Given the description of an element on the screen output the (x, y) to click on. 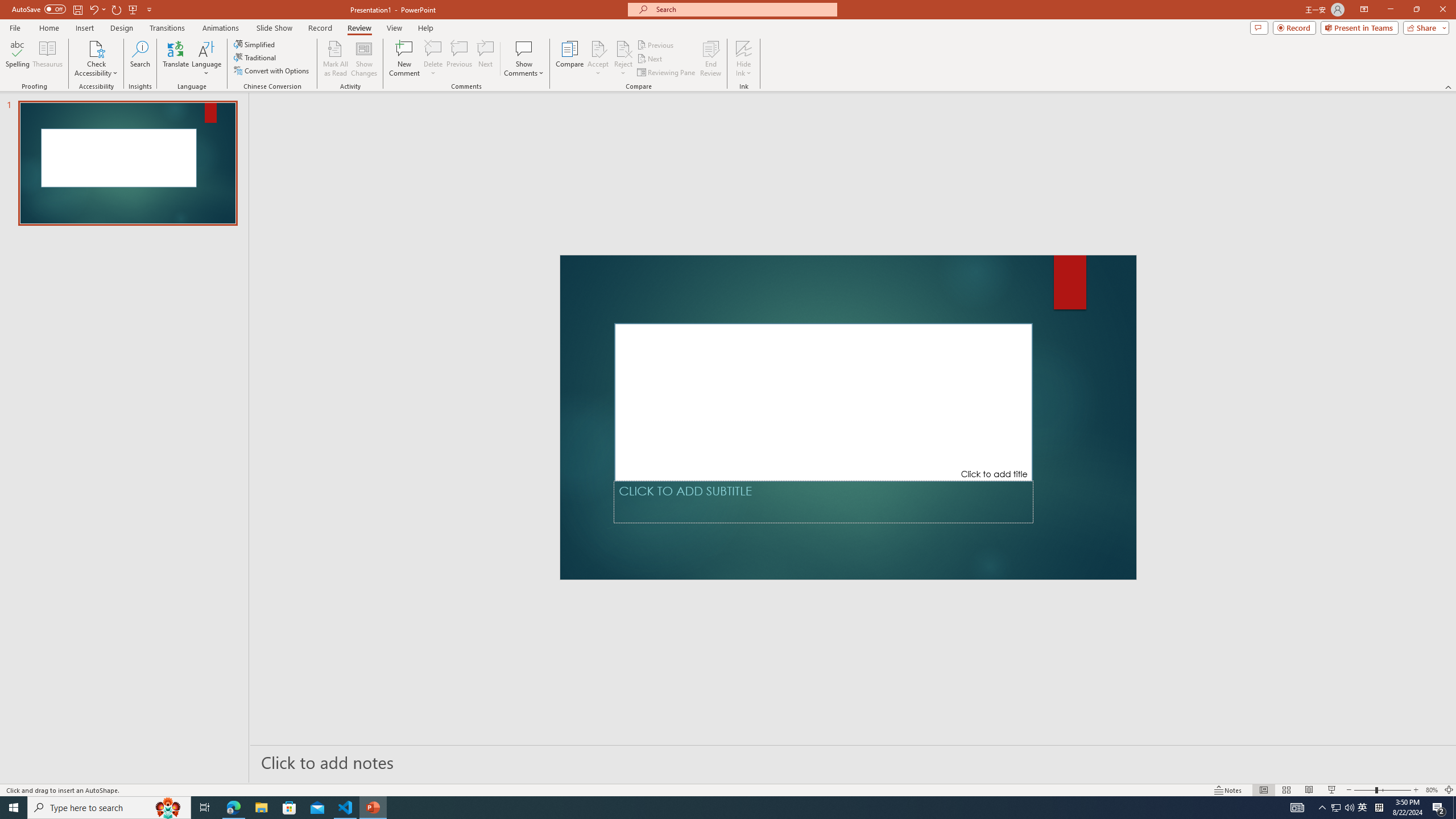
Show Changes (363, 58)
Previous (655, 44)
Animations (220, 28)
Translate (175, 58)
Search (140, 58)
Convert with Options... (272, 69)
Simplified (254, 44)
Thesaurus... (47, 58)
Hide Ink (743, 48)
Spelling... (17, 58)
Microsoft search (742, 9)
